Given the description of an element on the screen output the (x, y) to click on. 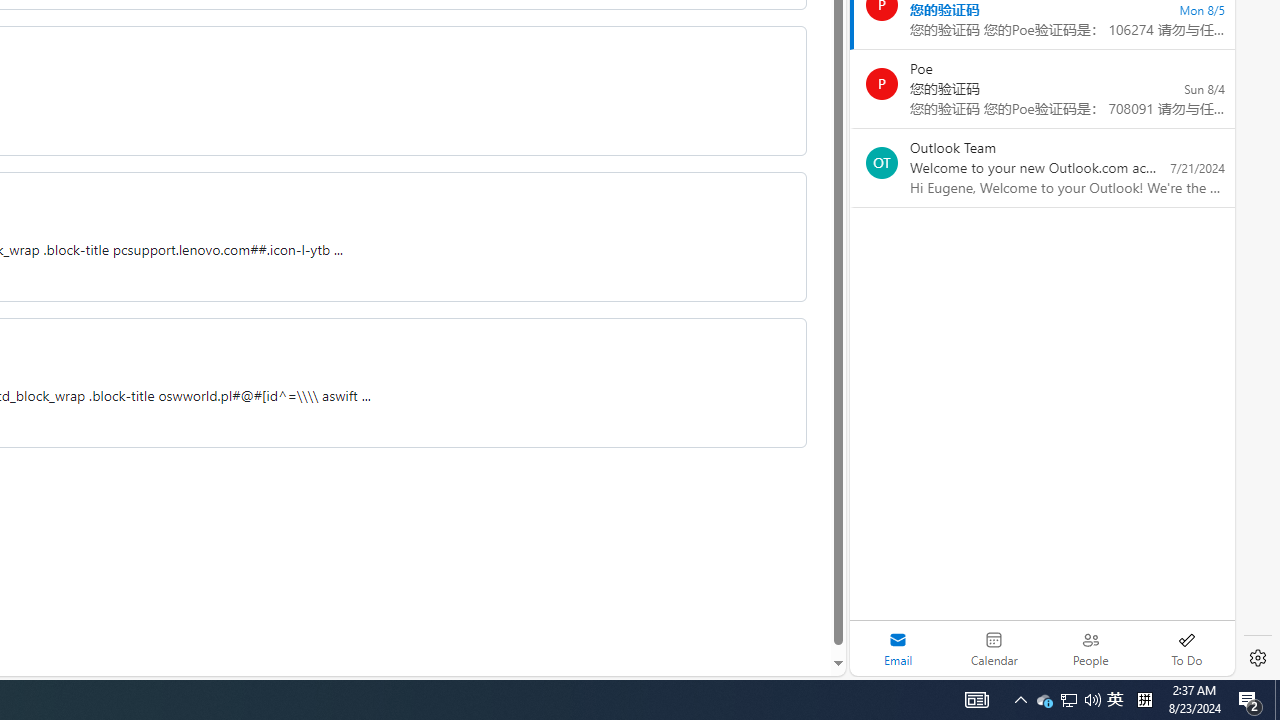
To Do (1186, 648)
Calendar. Date today is 22 (994, 648)
Selected mail module (898, 648)
People (1090, 648)
